Given the description of an element on the screen output the (x, y) to click on. 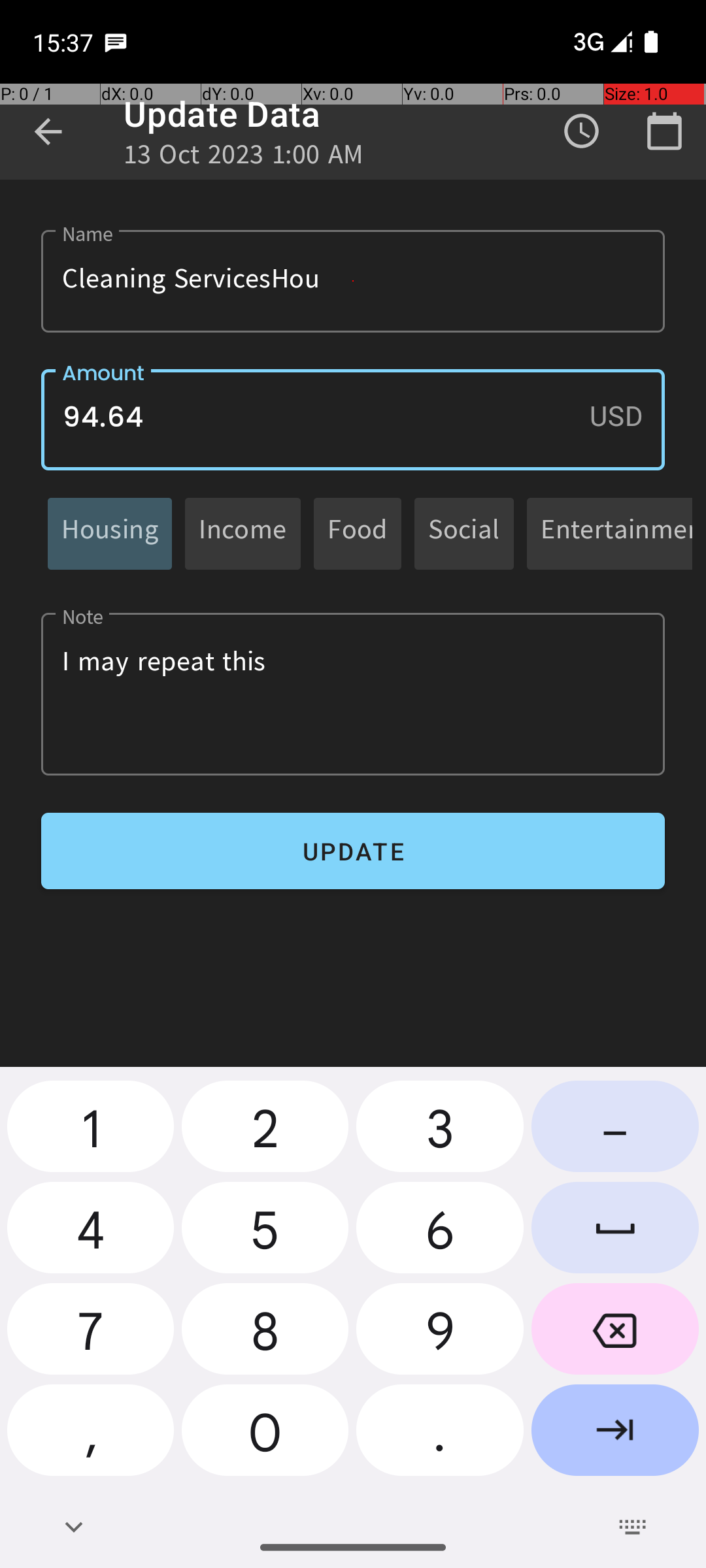
Update Data Element type: android.widget.TextView (221, 113)
13 Oct 2023 1:00 AM Element type: android.widget.TextView (243, 157)
Cleaning ServicesHou Element type: android.widget.EditText (352, 280)
94.64 Element type: android.widget.EditText (352, 419)
I may repeat this Element type: android.widget.EditText (352, 693)
UPDATE Element type: android.widget.Button (352, 850)
Dash Element type: android.widget.FrameLayout (614, 1130)
Next Element type: android.widget.FrameLayout (614, 1434)
15:37 Element type: android.widget.TextView (64, 41)
